Given the description of an element on the screen output the (x, y) to click on. 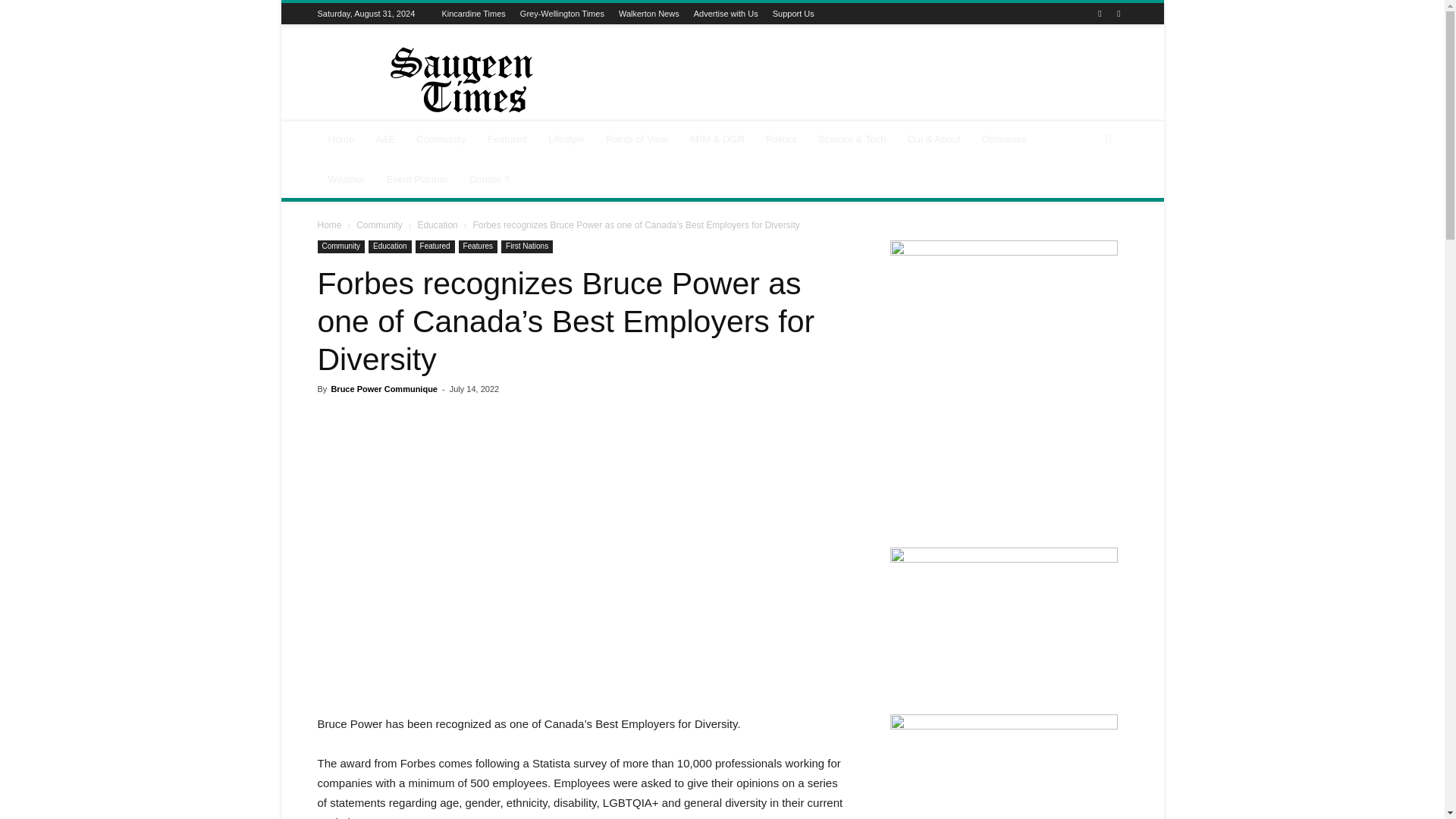
View all posts in Education (436, 225)
View all posts in Community (379, 225)
Saugeen Times (445, 79)
